Given the description of an element on the screen output the (x, y) to click on. 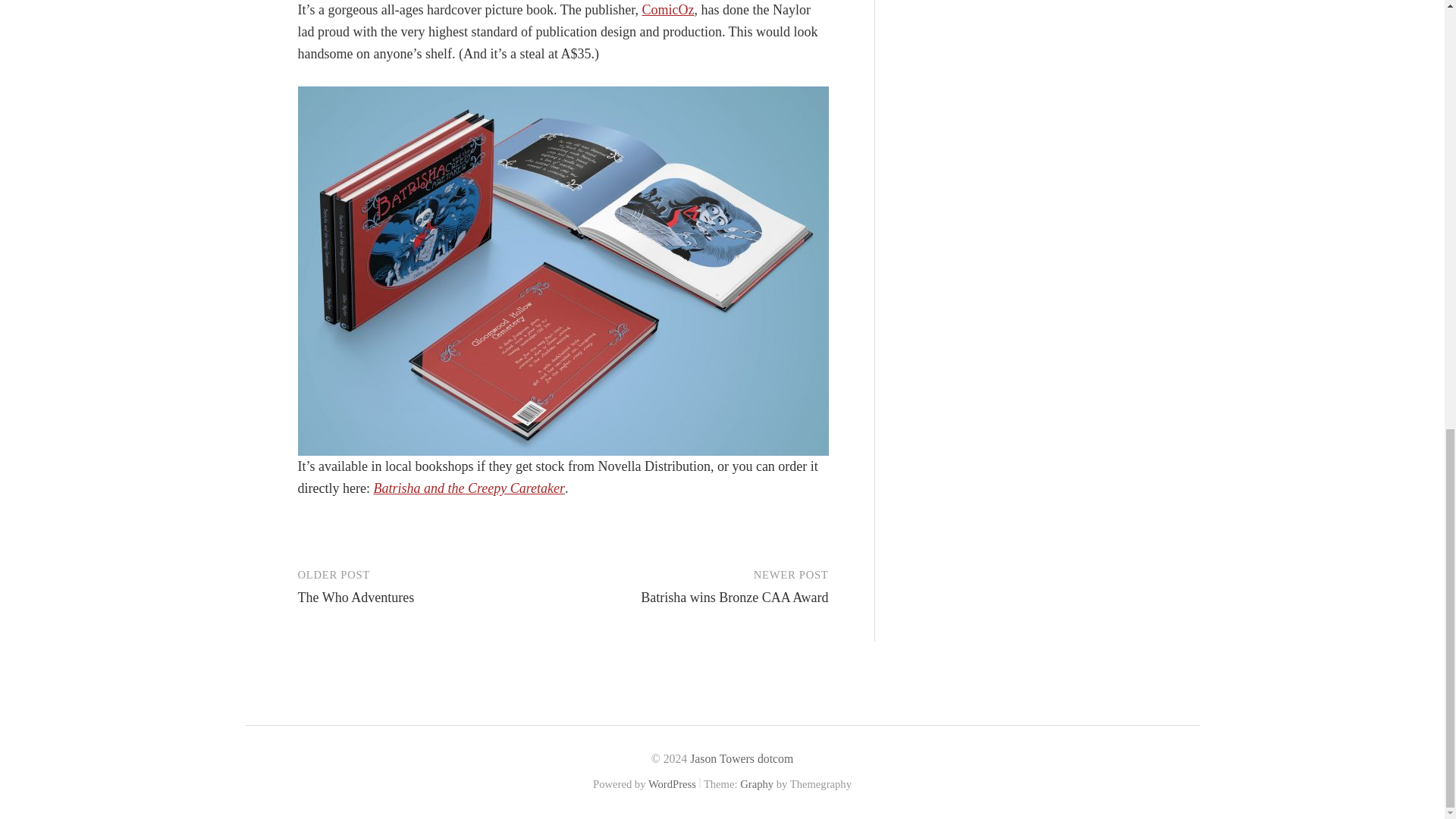
Batrisha wins Bronze CAA Award (734, 597)
Batrisha and the Creepy Caretaker (468, 488)
Graphy (756, 784)
Jason Towers dotcom (741, 758)
The Who Adventures (355, 597)
ComicOz (668, 9)
WordPress (671, 784)
